Given the description of an element on the screen output the (x, y) to click on. 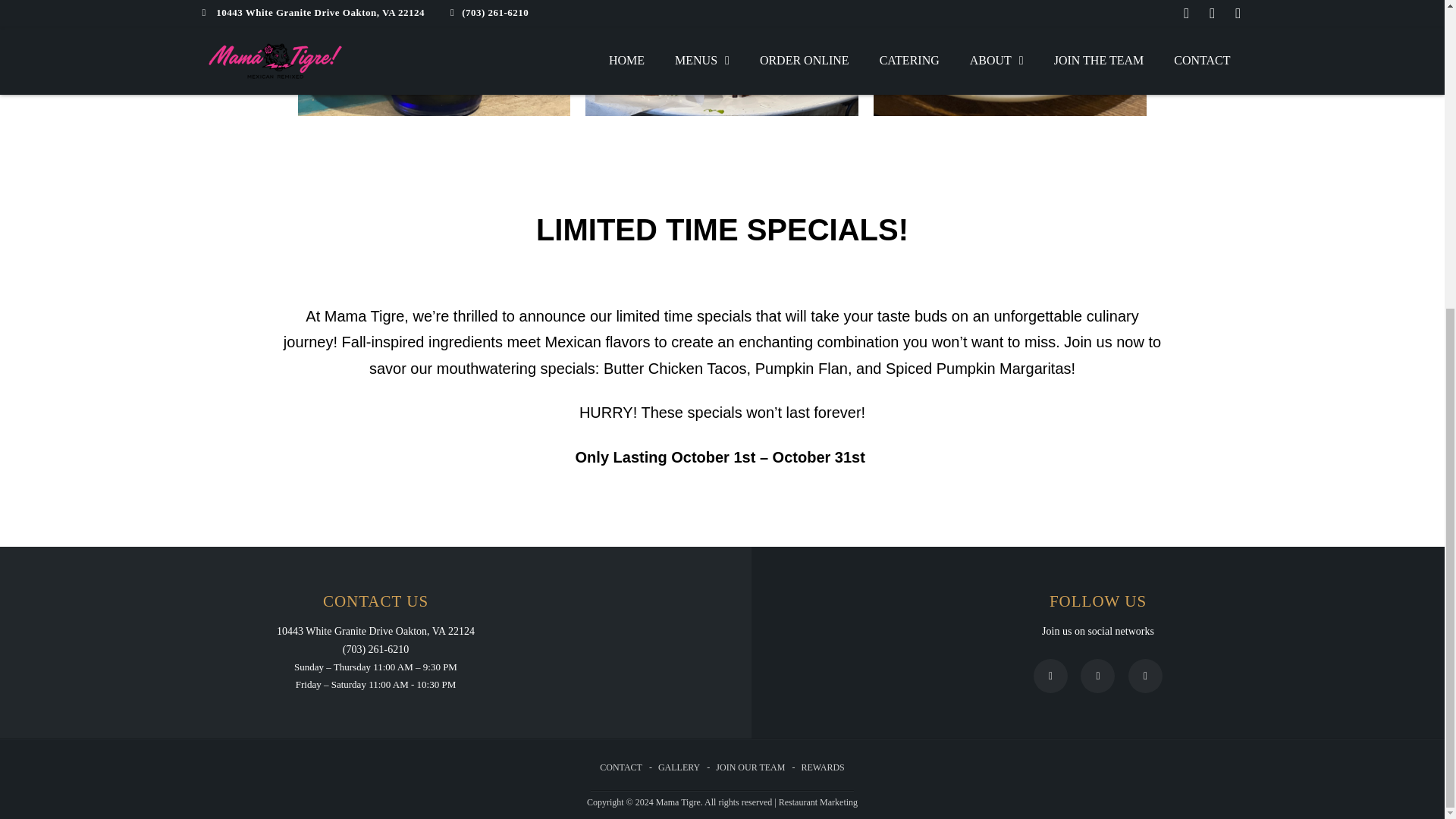
JOIN OUR TEAM (750, 767)
GALLERY (679, 767)
CONTACT (620, 767)
Restaurant Marketing (817, 801)
REWARDS (822, 767)
